Given the description of an element on the screen output the (x, y) to click on. 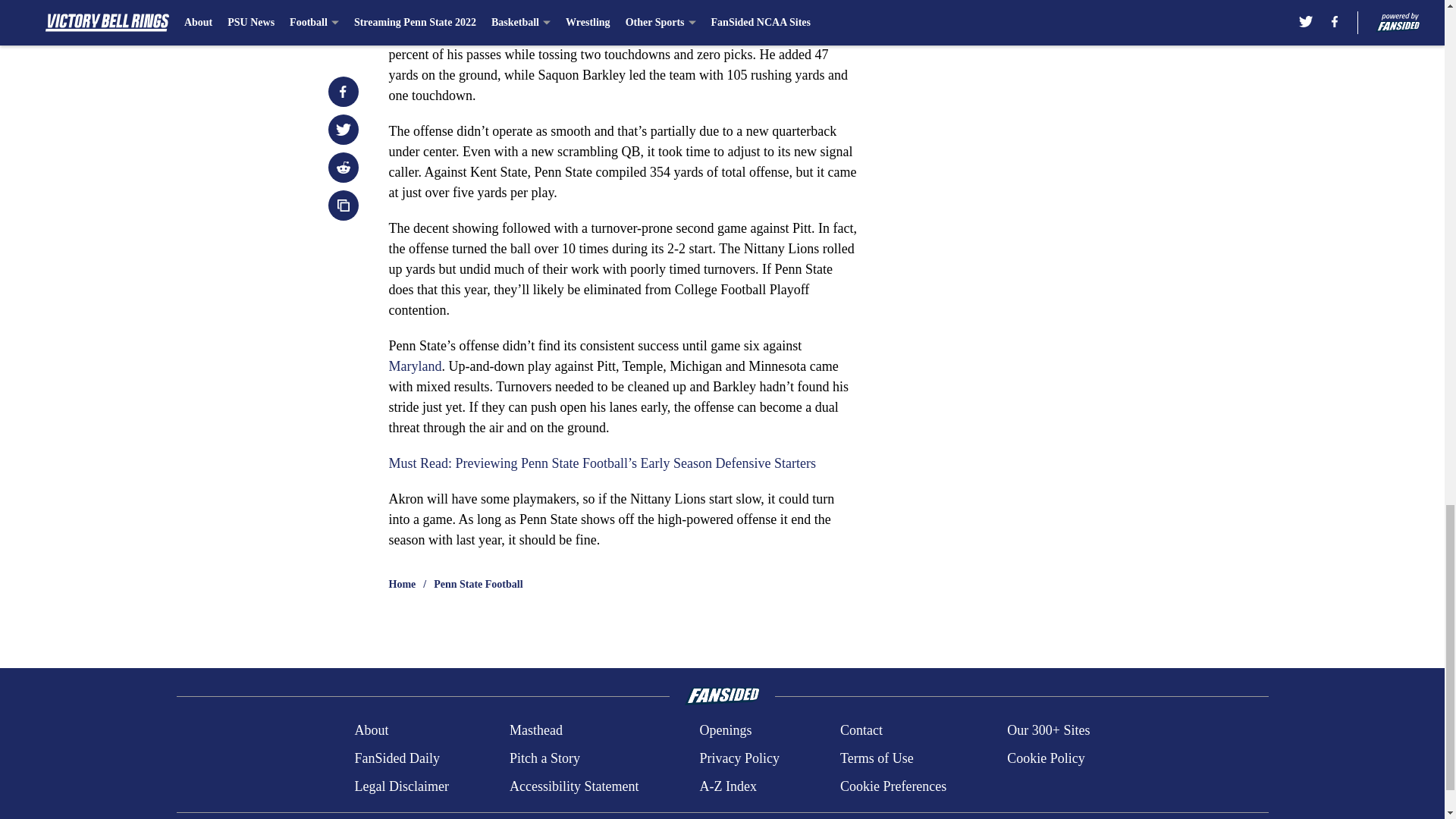
Terms of Use (877, 758)
Pitch a Story (544, 758)
Legal Disclaimer (400, 786)
About (370, 730)
Privacy Policy (738, 758)
Openings (724, 730)
FanSided Daily (396, 758)
Home (401, 584)
Trace McSorley (549, 33)
Penn State Football (477, 584)
Maryland (414, 365)
Cookie Policy (1045, 758)
Contact (861, 730)
Masthead (535, 730)
